Given the description of an element on the screen output the (x, y) to click on. 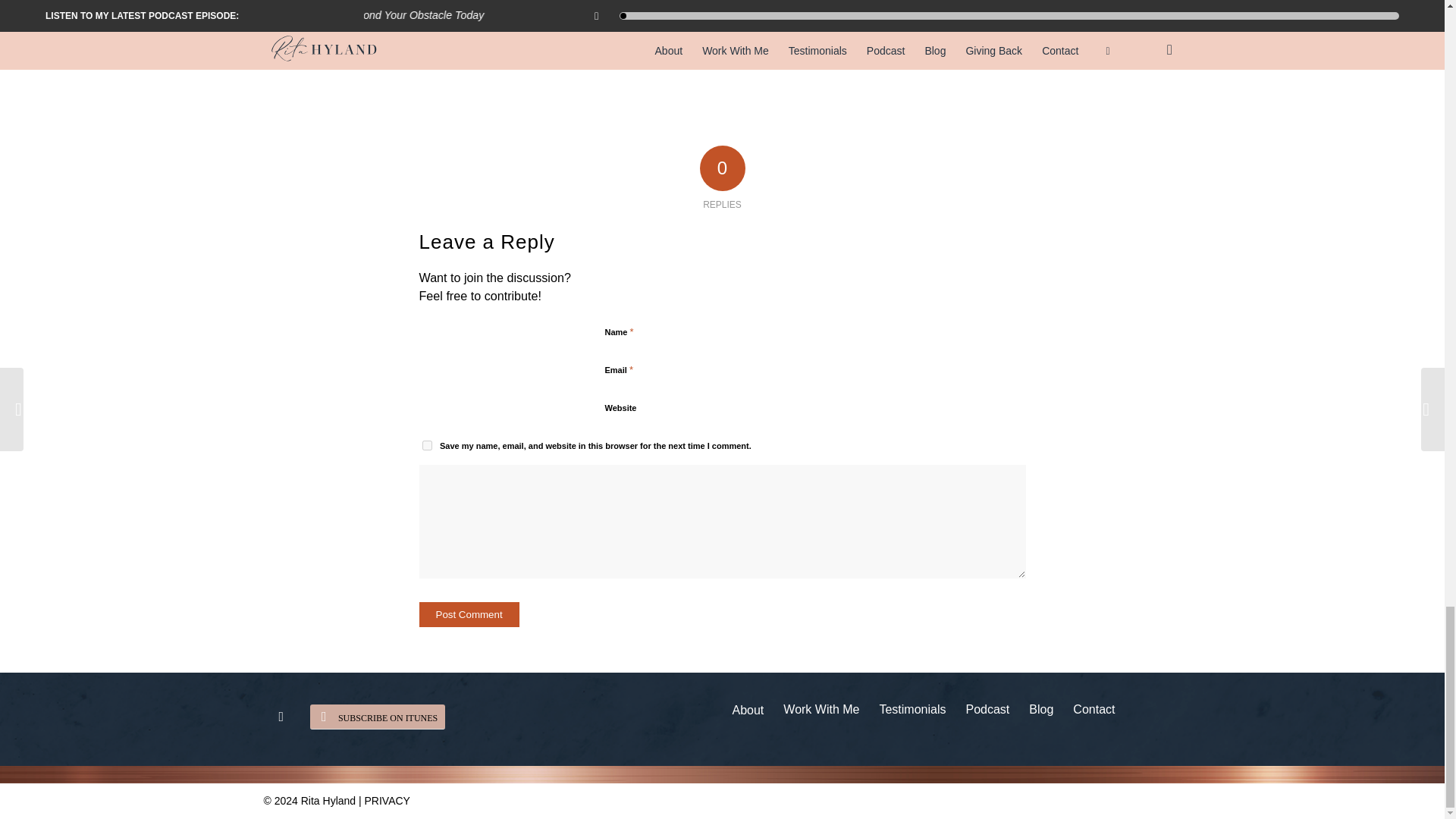
Testimonials (911, 709)
yes (426, 445)
Contact (1093, 709)
PRIVACY (387, 800)
Post Comment (468, 614)
Work With Me (820, 709)
SUBSCRIBE ON ITUNES (377, 716)
Post Comment (468, 614)
Podcast (986, 709)
